Given the description of an element on the screen output the (x, y) to click on. 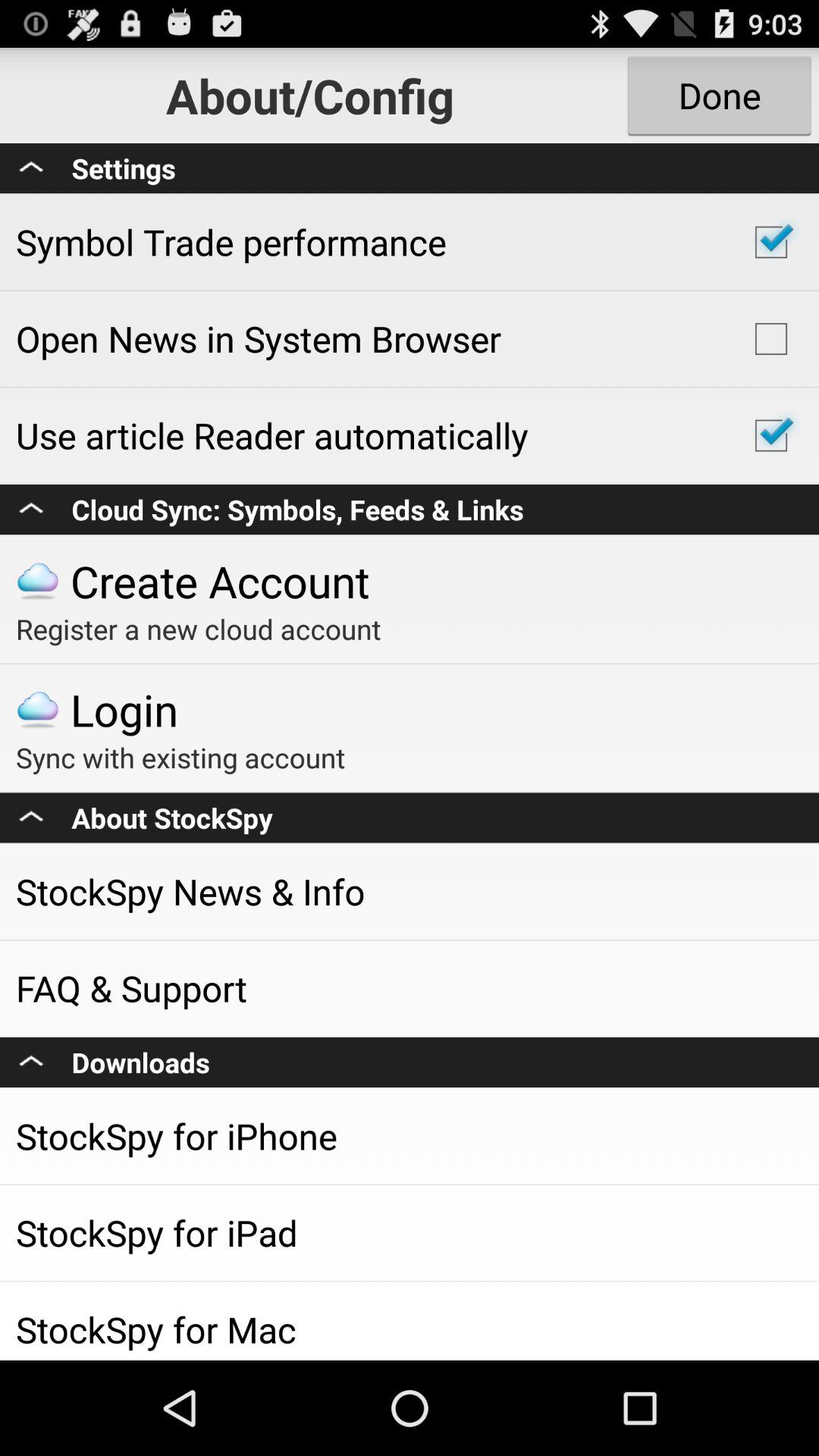
scroll to done (719, 95)
